Given the description of an element on the screen output the (x, y) to click on. 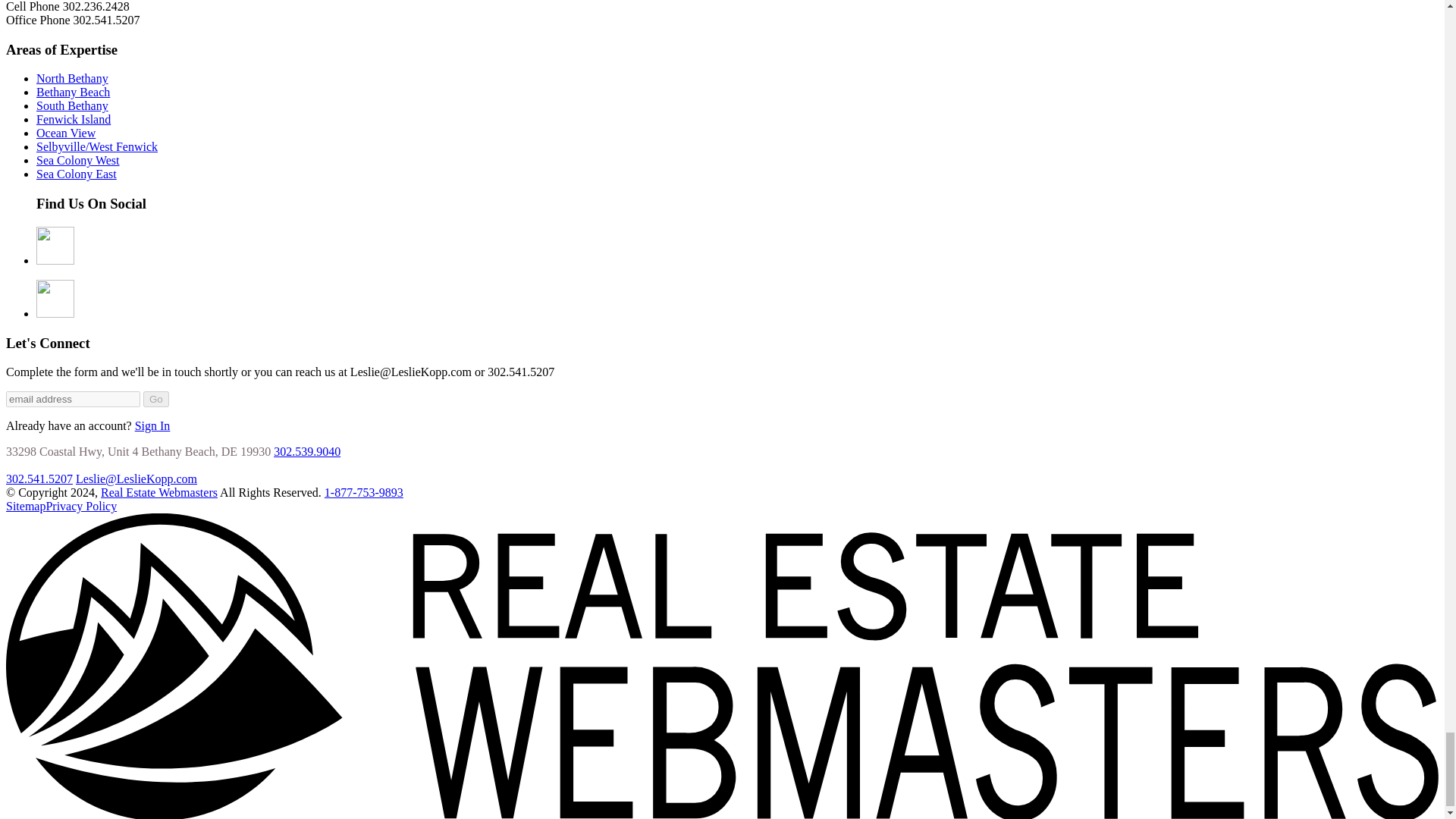
South Bethany (71, 105)
Bethany Beach (73, 91)
North Bethany (71, 78)
